Given the description of an element on the screen output the (x, y) to click on. 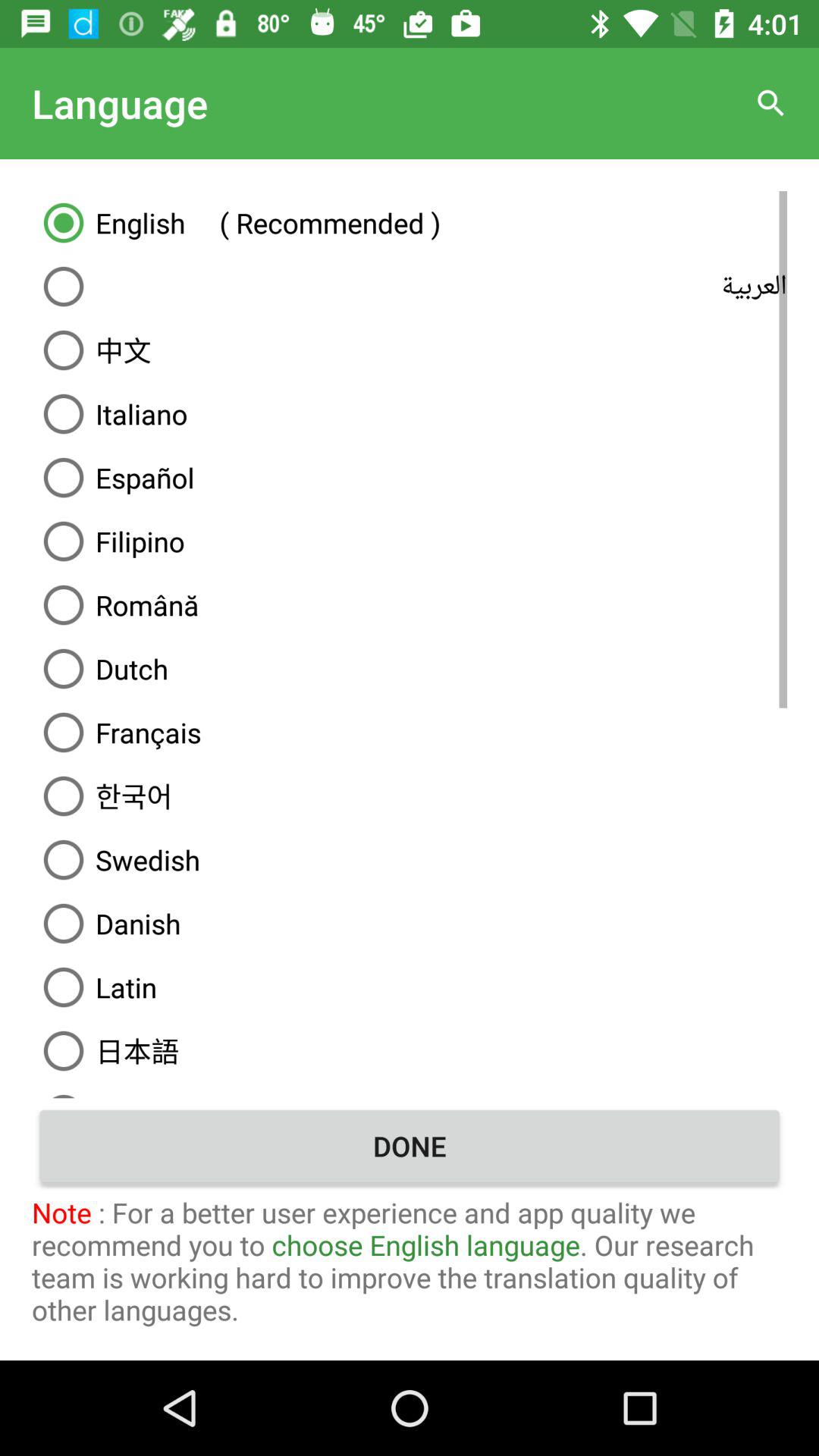
tap icon at the top right corner (771, 103)
